Given the description of an element on the screen output the (x, y) to click on. 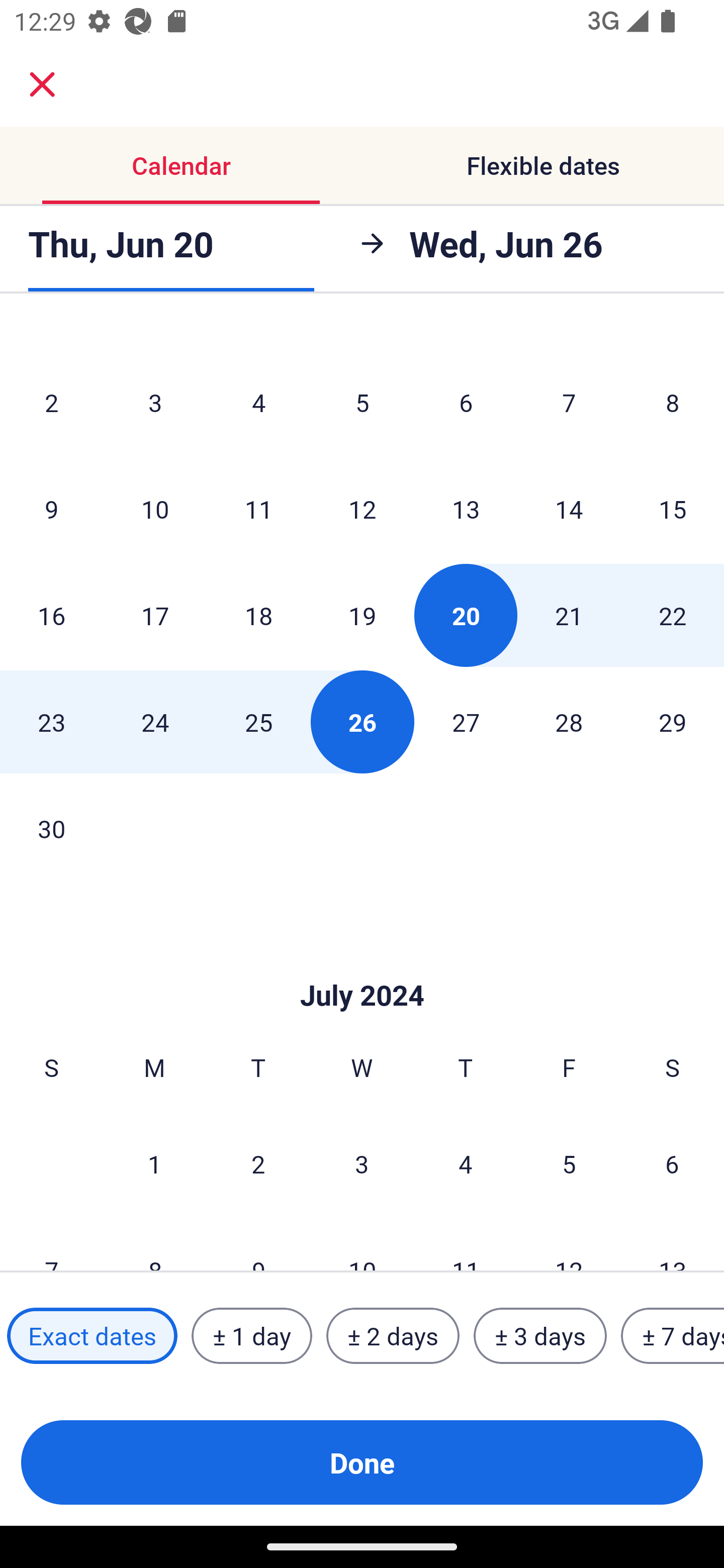
close. (42, 84)
Flexible dates (542, 164)
2 Sunday, June 2, 2024 (51, 402)
3 Monday, June 3, 2024 (155, 402)
4 Tuesday, June 4, 2024 (258, 402)
5 Wednesday, June 5, 2024 (362, 402)
6 Thursday, June 6, 2024 (465, 402)
7 Friday, June 7, 2024 (569, 402)
8 Saturday, June 8, 2024 (672, 402)
9 Sunday, June 9, 2024 (51, 508)
10 Monday, June 10, 2024 (155, 508)
11 Tuesday, June 11, 2024 (258, 508)
12 Wednesday, June 12, 2024 (362, 508)
13 Thursday, June 13, 2024 (465, 508)
14 Friday, June 14, 2024 (569, 508)
15 Saturday, June 15, 2024 (672, 508)
16 Sunday, June 16, 2024 (51, 615)
17 Monday, June 17, 2024 (155, 615)
18 Tuesday, June 18, 2024 (258, 615)
19 Wednesday, June 19, 2024 (362, 615)
27 Thursday, June 27, 2024 (465, 722)
28 Friday, June 28, 2024 (569, 722)
29 Saturday, June 29, 2024 (672, 722)
30 Sunday, June 30, 2024 (51, 828)
Skip to Done (362, 965)
1 Monday, July 1, 2024 (154, 1163)
2 Tuesday, July 2, 2024 (257, 1163)
3 Wednesday, July 3, 2024 (361, 1163)
4 Thursday, July 4, 2024 (465, 1163)
5 Friday, July 5, 2024 (568, 1163)
6 Saturday, July 6, 2024 (672, 1163)
Exact dates (92, 1335)
± 1 day (251, 1335)
± 2 days (392, 1335)
± 3 days (539, 1335)
± 7 days (672, 1335)
Done (361, 1462)
